Given the description of an element on the screen output the (x, y) to click on. 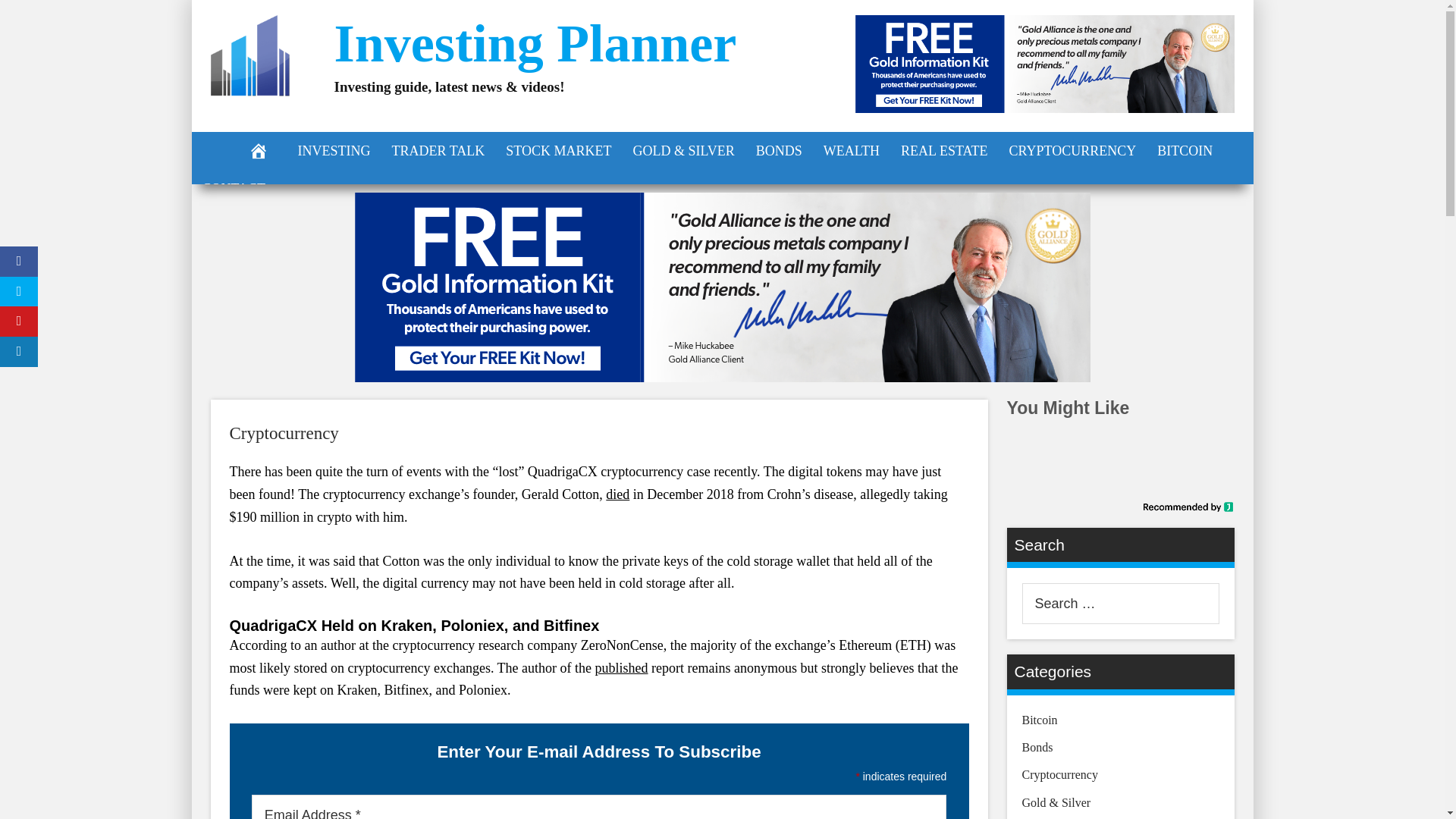
Investing Planner (534, 43)
INVESTING (333, 150)
Cryptocurrency (282, 433)
BONDS (778, 150)
TRADER TALK (437, 150)
STOCK MARKET (558, 150)
